Given the description of an element on the screen output the (x, y) to click on. 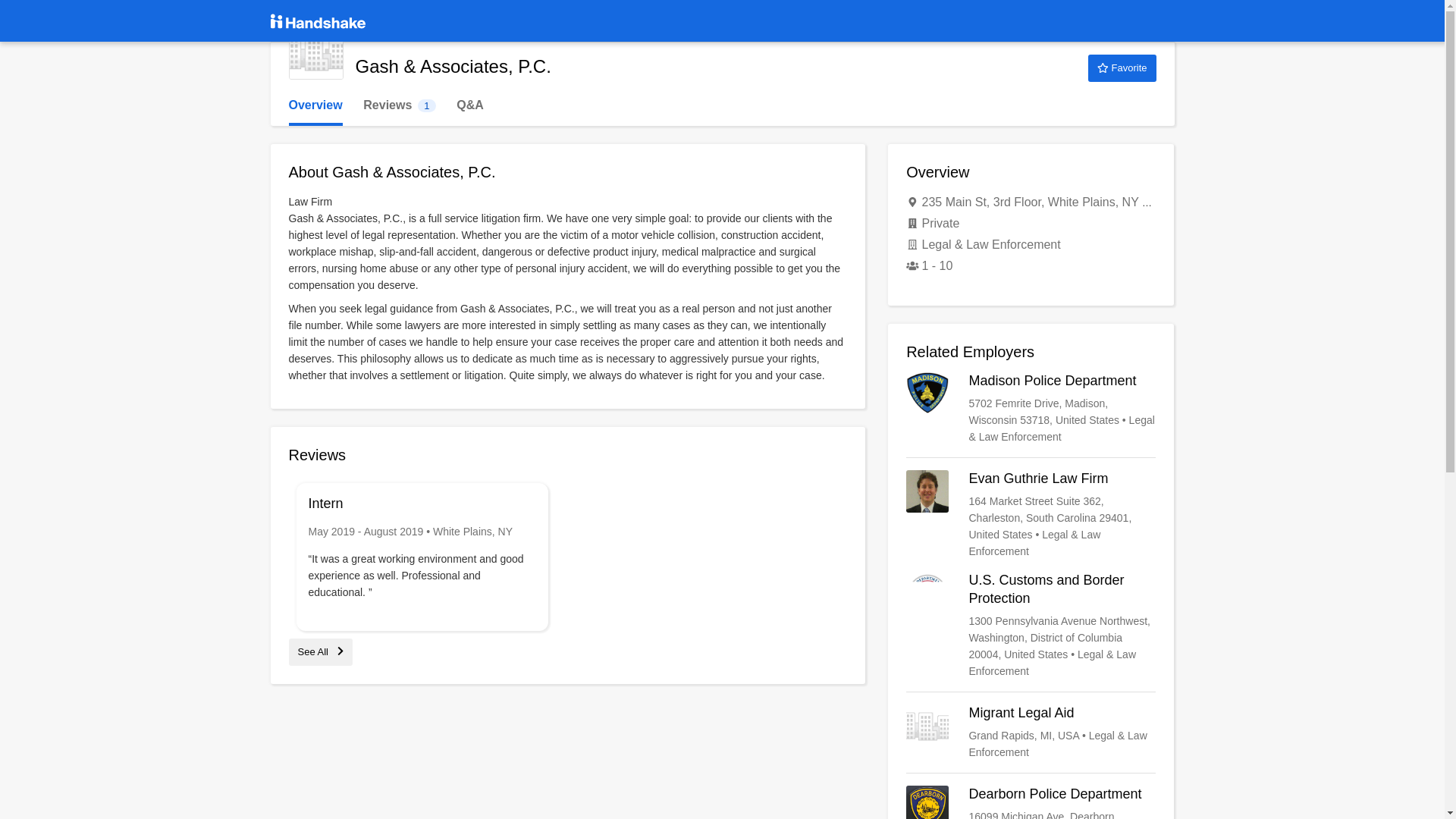
Madison Police Department (1030, 408)
Favorite (1121, 67)
Migrant Legal Aid (1030, 732)
Evan Guthrie Law Firm (1030, 514)
U.S. Customs and Border Protection (398, 105)
Overview (1030, 625)
See All (315, 105)
Dearborn Police Department (320, 651)
